Given the description of an element on the screen output the (x, y) to click on. 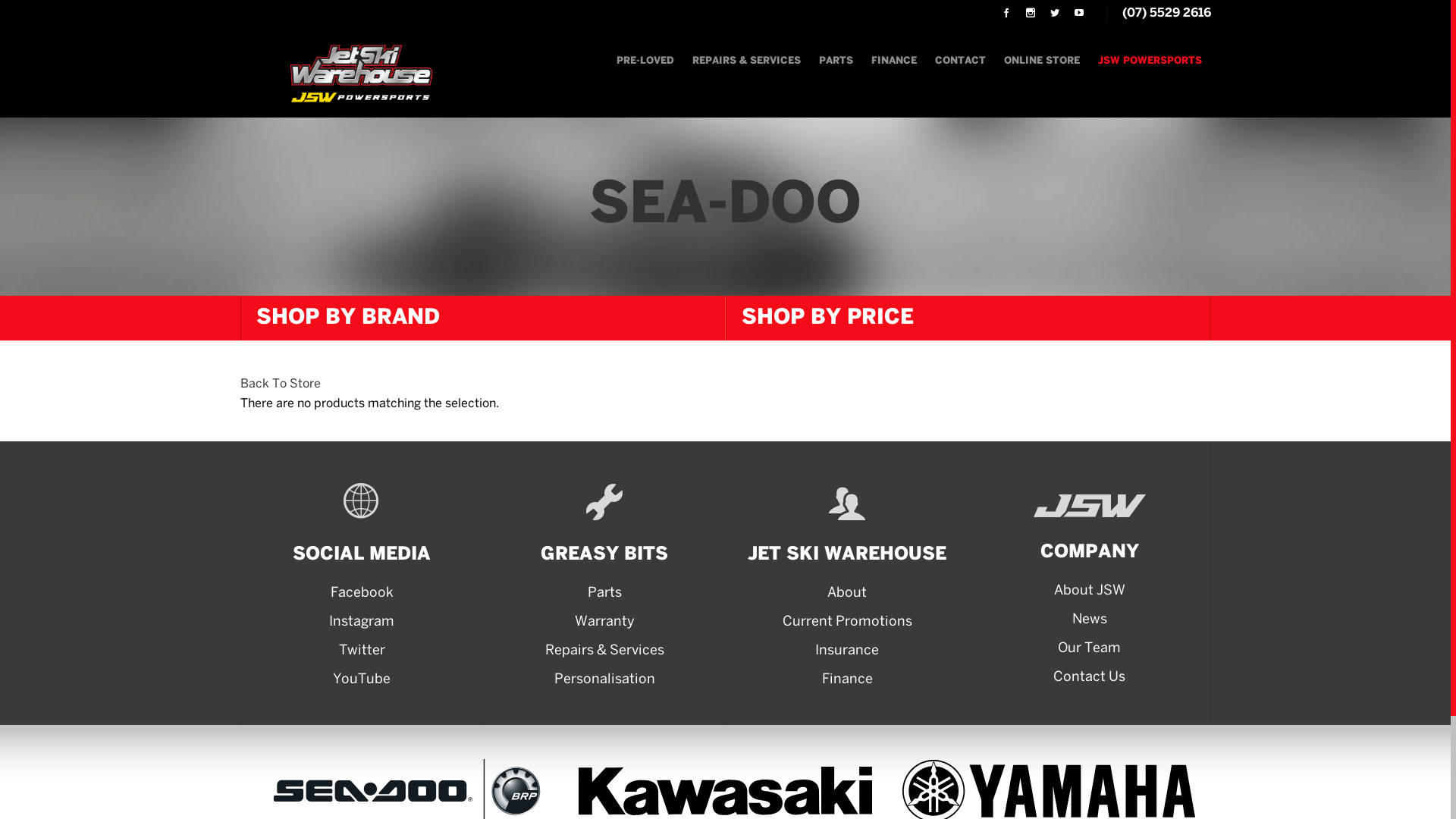
PARTS Element type: text (835, 61)
Like us on Facebook! Element type: hover (1005, 13)
Finance Element type: text (847, 679)
PRE-LOVED Element type: text (644, 61)
SHOP BY PRICE Element type: text (968, 317)
Parts Element type: text (604, 593)
Instagram Element type: text (361, 622)
Our Team Element type: text (1089, 648)
Insurance Element type: text (847, 651)
ONLINE STORE Element type: text (1041, 61)
Personalisation Element type: text (604, 679)
Follow us on Twitter! Element type: hover (1053, 13)
Warranty Element type: text (604, 622)
CONTACT Element type: text (959, 61)
Repairs & Services Element type: text (604, 651)
YouTube Element type: text (361, 679)
About Element type: text (847, 593)
SHOP BY BRAND Element type: text (482, 317)
Contact Us Element type: text (1089, 677)
REPAIRS & SERVICES Element type: text (745, 61)
Facebook Element type: text (361, 593)
News Element type: text (1089, 619)
Twitter Element type: text (361, 651)
FINANCE Element type: text (893, 61)
Subscribe to our YouTube! Element type: hover (1077, 13)
Follow us on Instagram! Element type: hover (1029, 13)
Current Promotions Element type: text (847, 622)
Back To Store Element type: text (279, 383)
JSW POWERSPORTS Element type: text (1149, 61)
About JSW Element type: text (1089, 591)
